Given the description of an element on the screen output the (x, y) to click on. 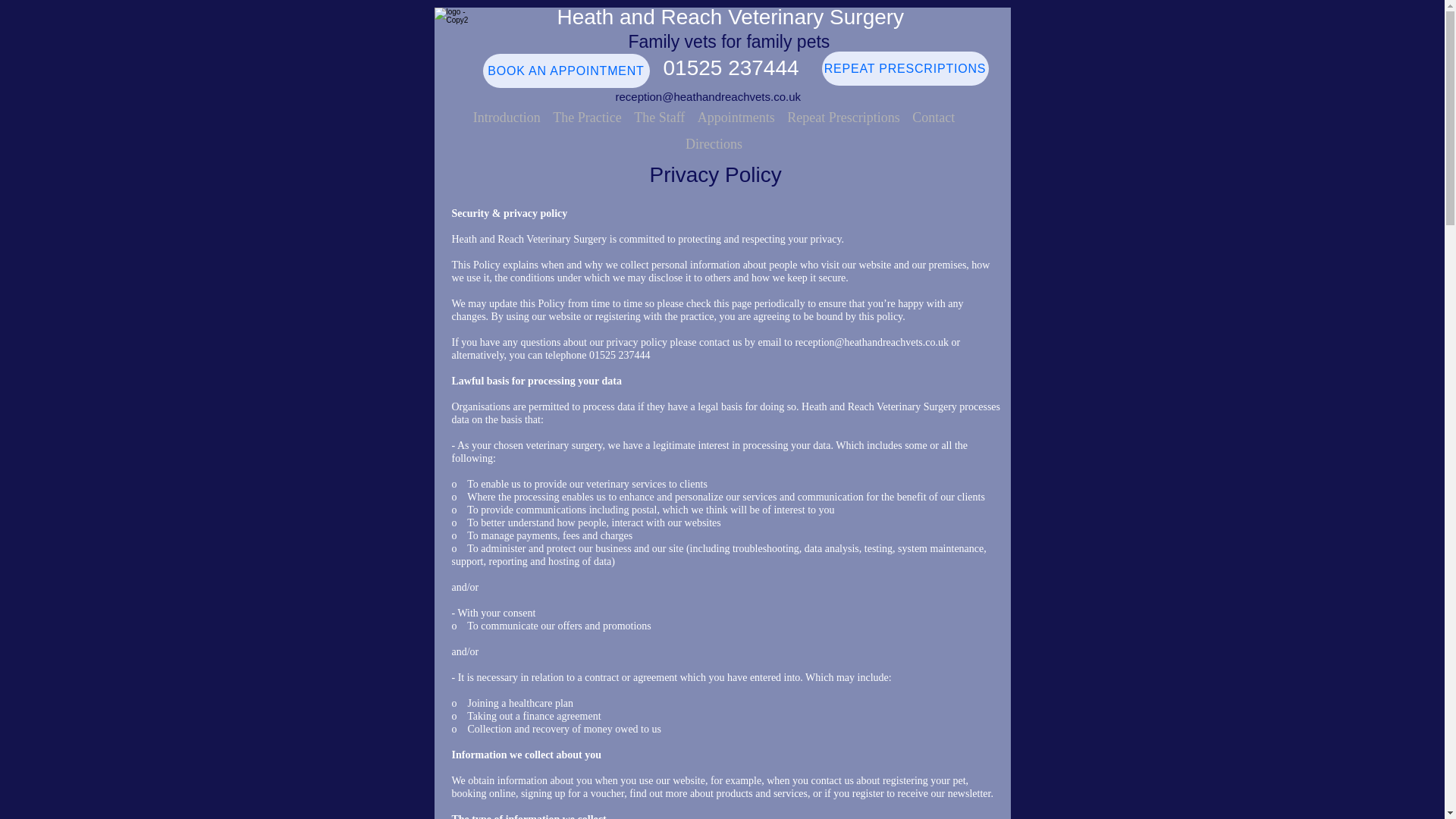
Contact (932, 117)
Directions (713, 144)
BOOK AN APPOINTMENT (565, 70)
Appointments (735, 117)
Introduction (507, 117)
Repeat Prescriptions (842, 117)
The Staff (659, 117)
The Practice (587, 117)
REPEAT PRESCRIPTIONS (905, 68)
